Given the description of an element on the screen output the (x, y) to click on. 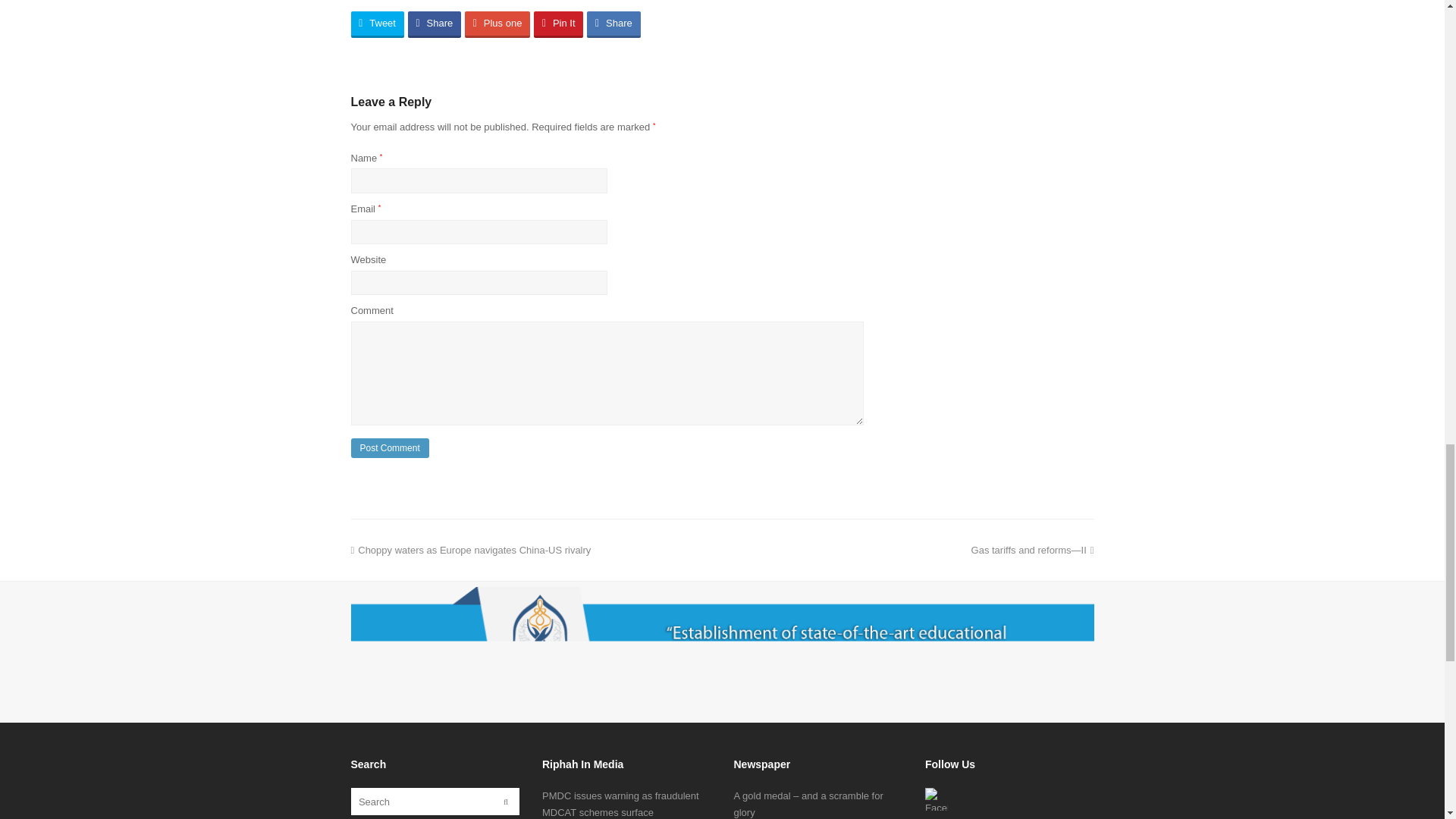
Share on Pinterest (558, 24)
Share on Twitter (376, 24)
Share on LinkedIn (613, 24)
Post Comment (389, 447)
Share on Facebook (434, 24)
